Given the description of an element on the screen output the (x, y) to click on. 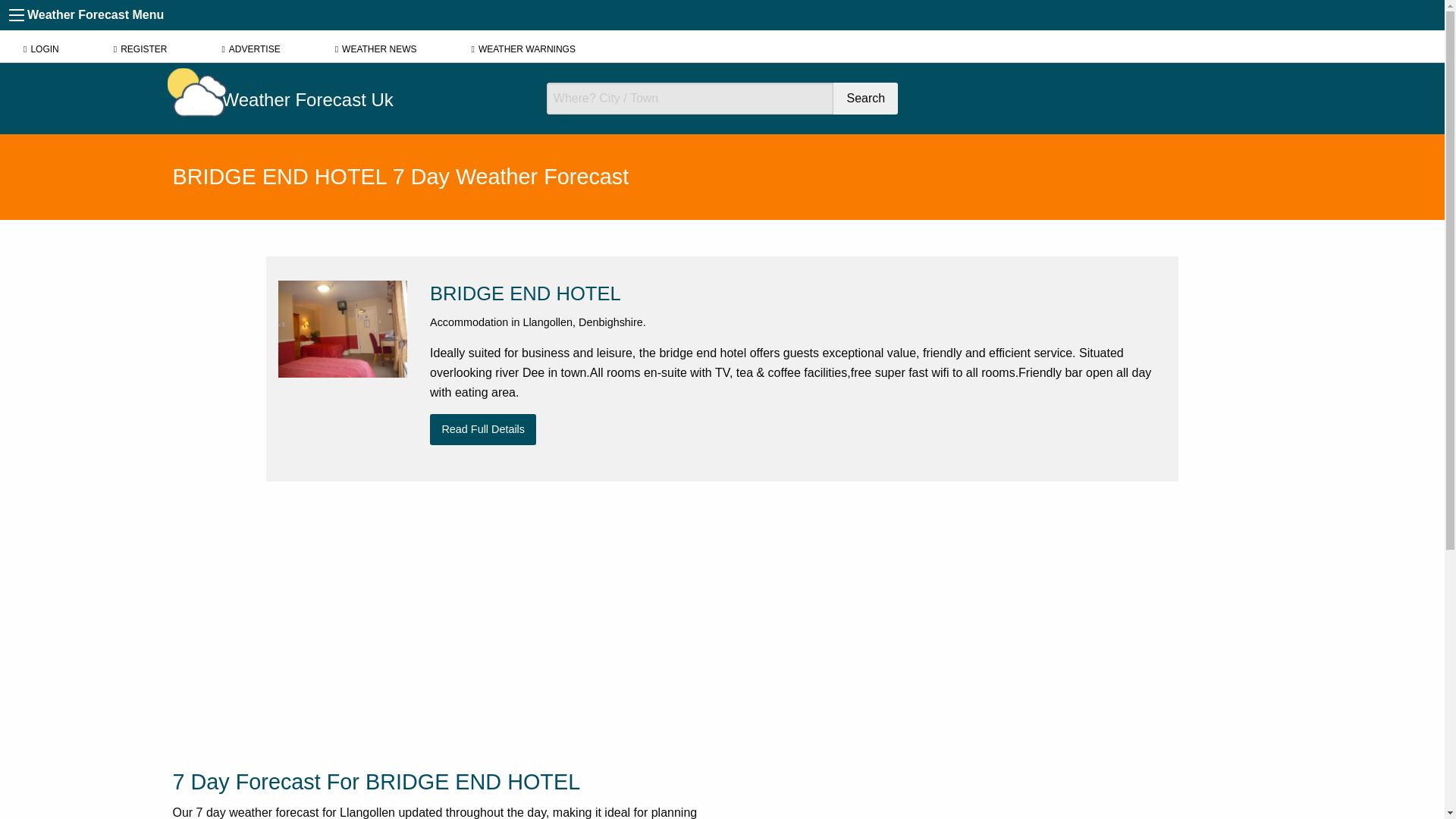
Read Full Details (482, 429)
Search (865, 98)
REGISTER (140, 49)
WEATHER WARNINGS (524, 49)
LOGIN (41, 49)
ADVERTISE (250, 49)
WEATHER NEWS (376, 49)
Weather Forecast Uk (348, 99)
Search (865, 98)
